Given the description of an element on the screen output the (x, y) to click on. 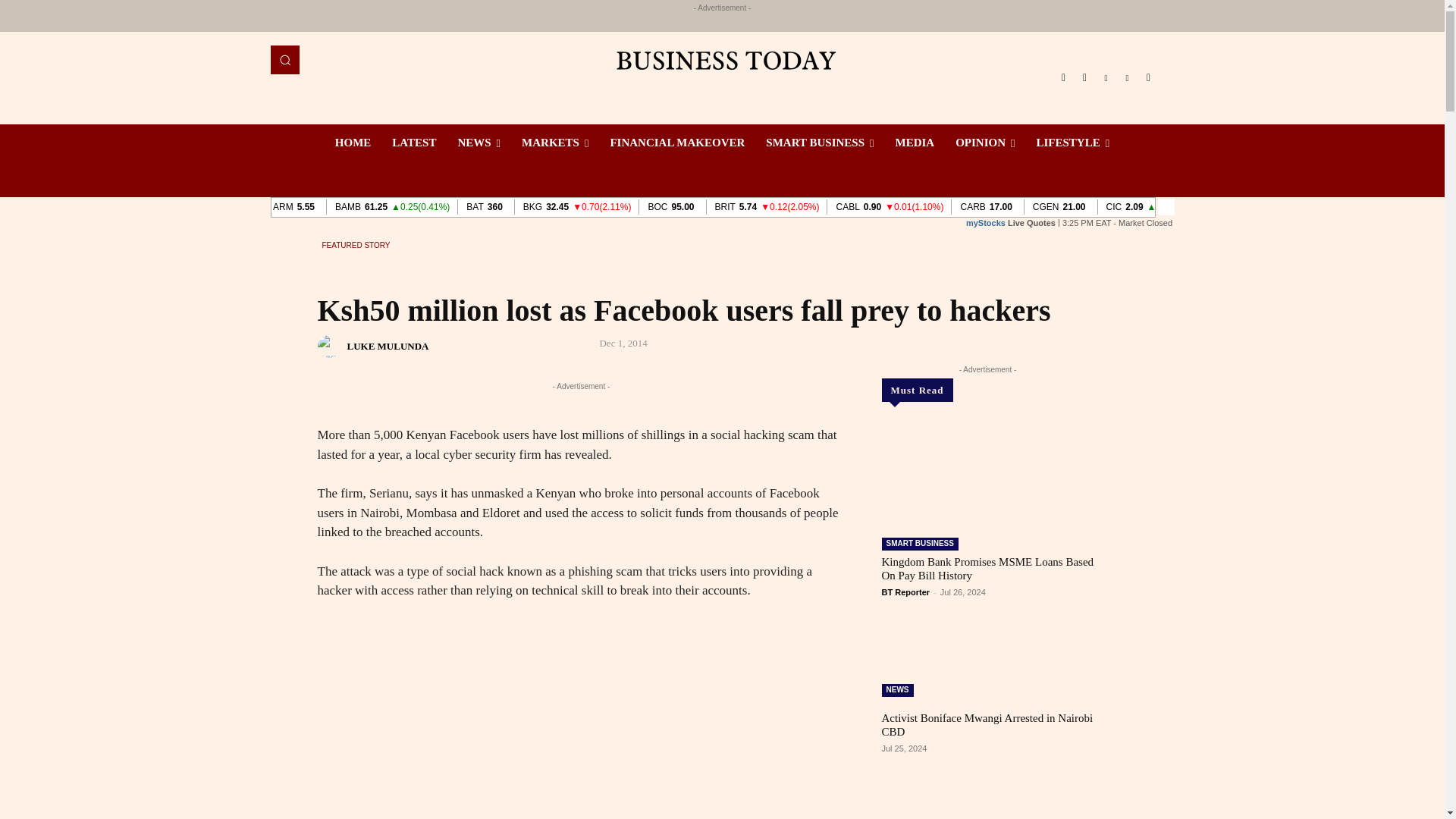
Linkedin (1105, 77)
Twitter (1126, 77)
Youtube (1147, 77)
LUKE MULUNDA (330, 345)
Instagram (1084, 77)
Facebook (1063, 77)
